Given the description of an element on the screen output the (x, y) to click on. 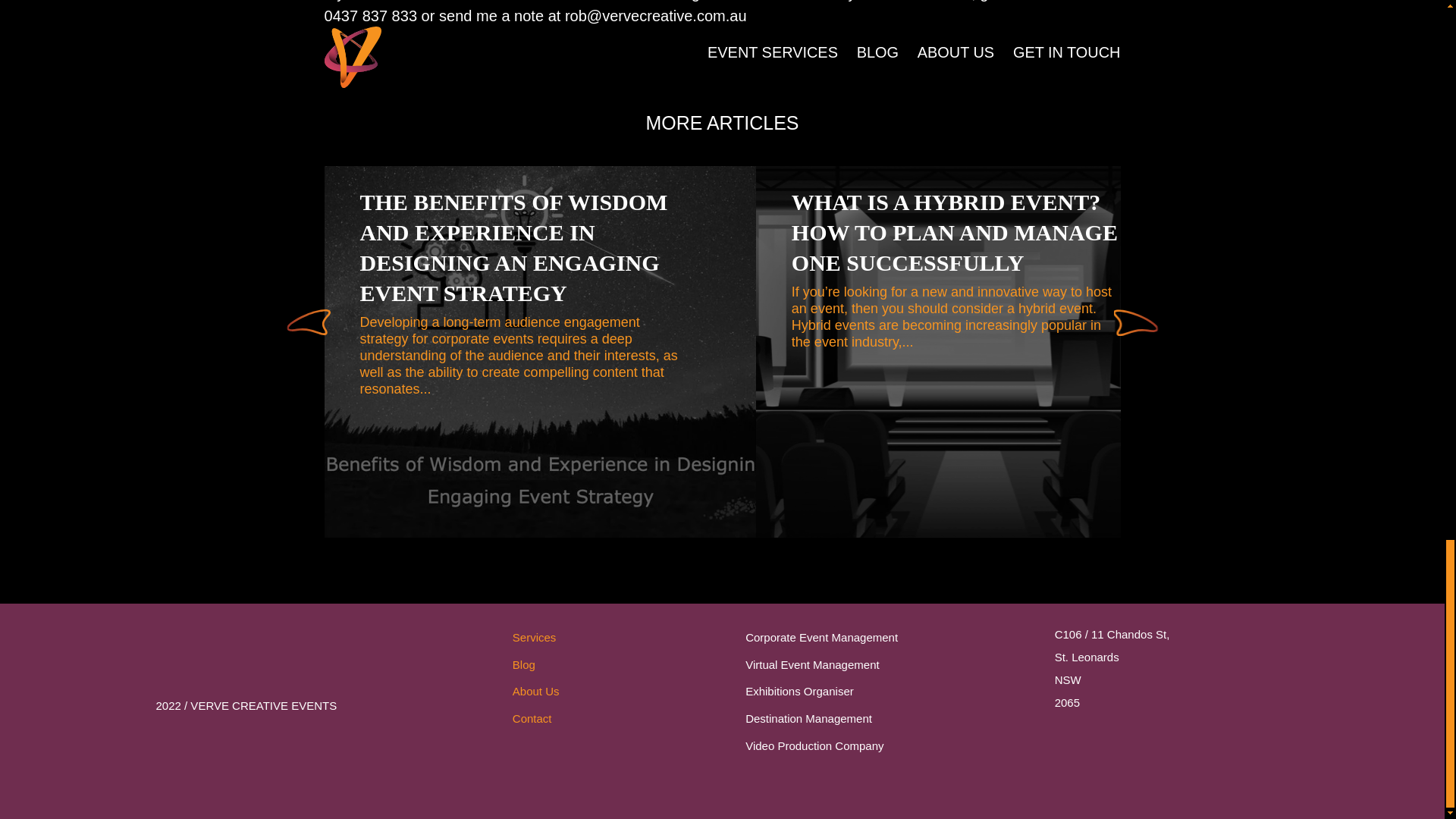
0437 837 833 (370, 15)
logo verve (265, 653)
